Given the description of an element on the screen output the (x, y) to click on. 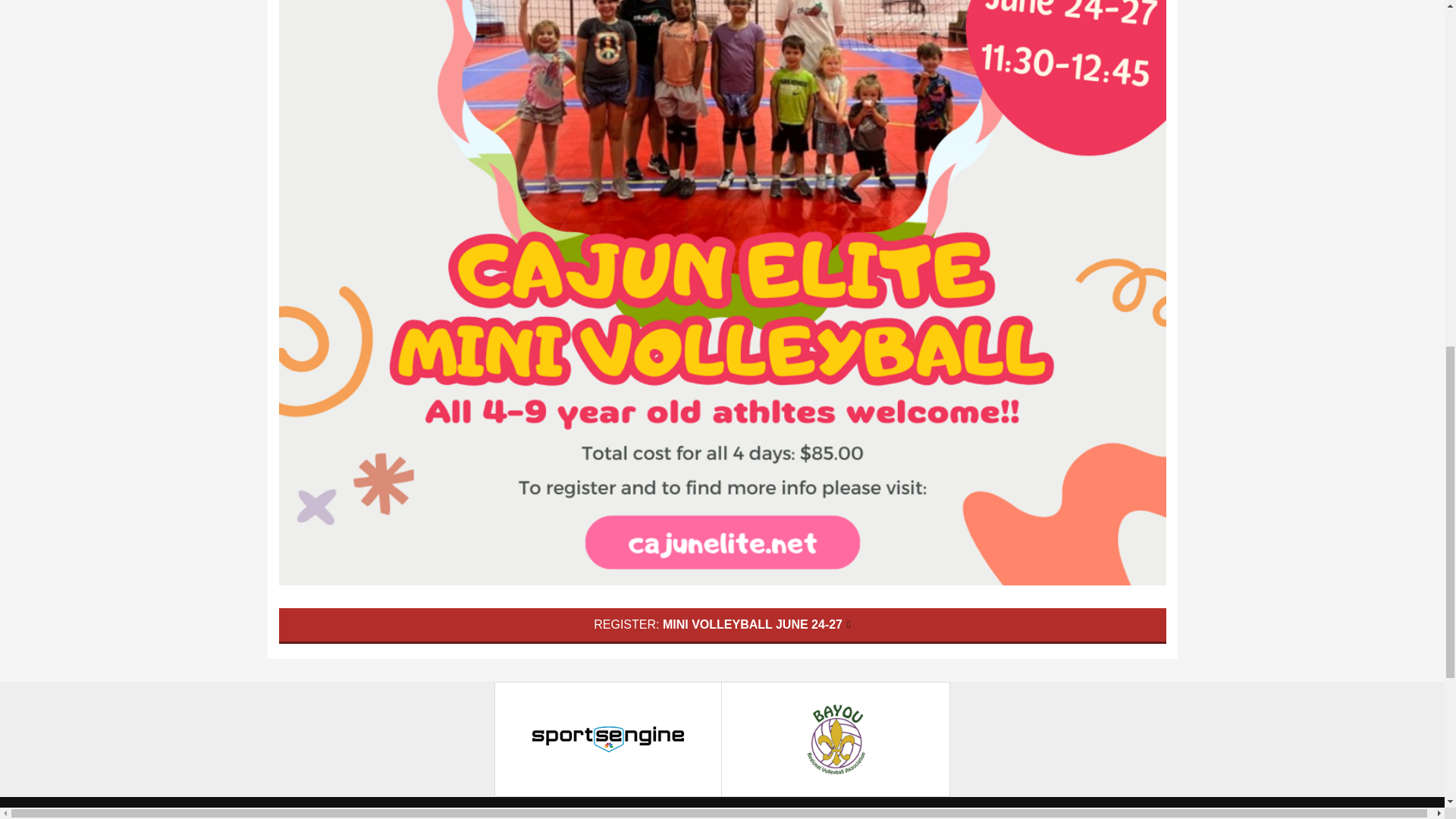
REGISTER: MINI VOLLEYBALL JUNE 24-27 (722, 625)
